Given the description of an element on the screen output the (x, y) to click on. 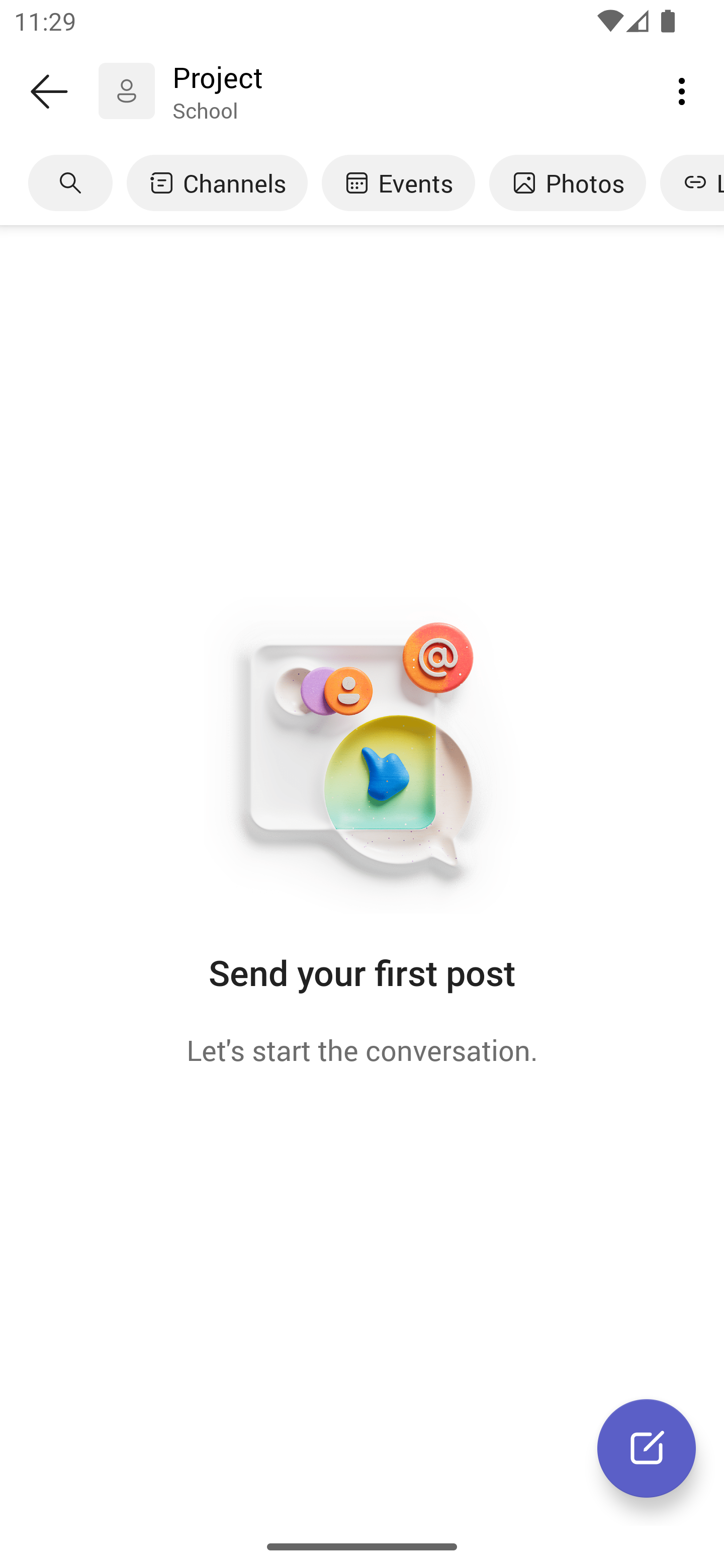
Back Project. School Project School More options (362, 91)
Back (49, 91)
More options (681, 90)
Search tab, 1 of 6 (70, 183)
Channels tab, 2 of 6 Channels (216, 183)
Events tab, 3 of 6 Events (397, 183)
Photos tab, 4 of 6 Photos (567, 183)
New conversation (646, 1447)
